Given the description of an element on the screen output the (x, y) to click on. 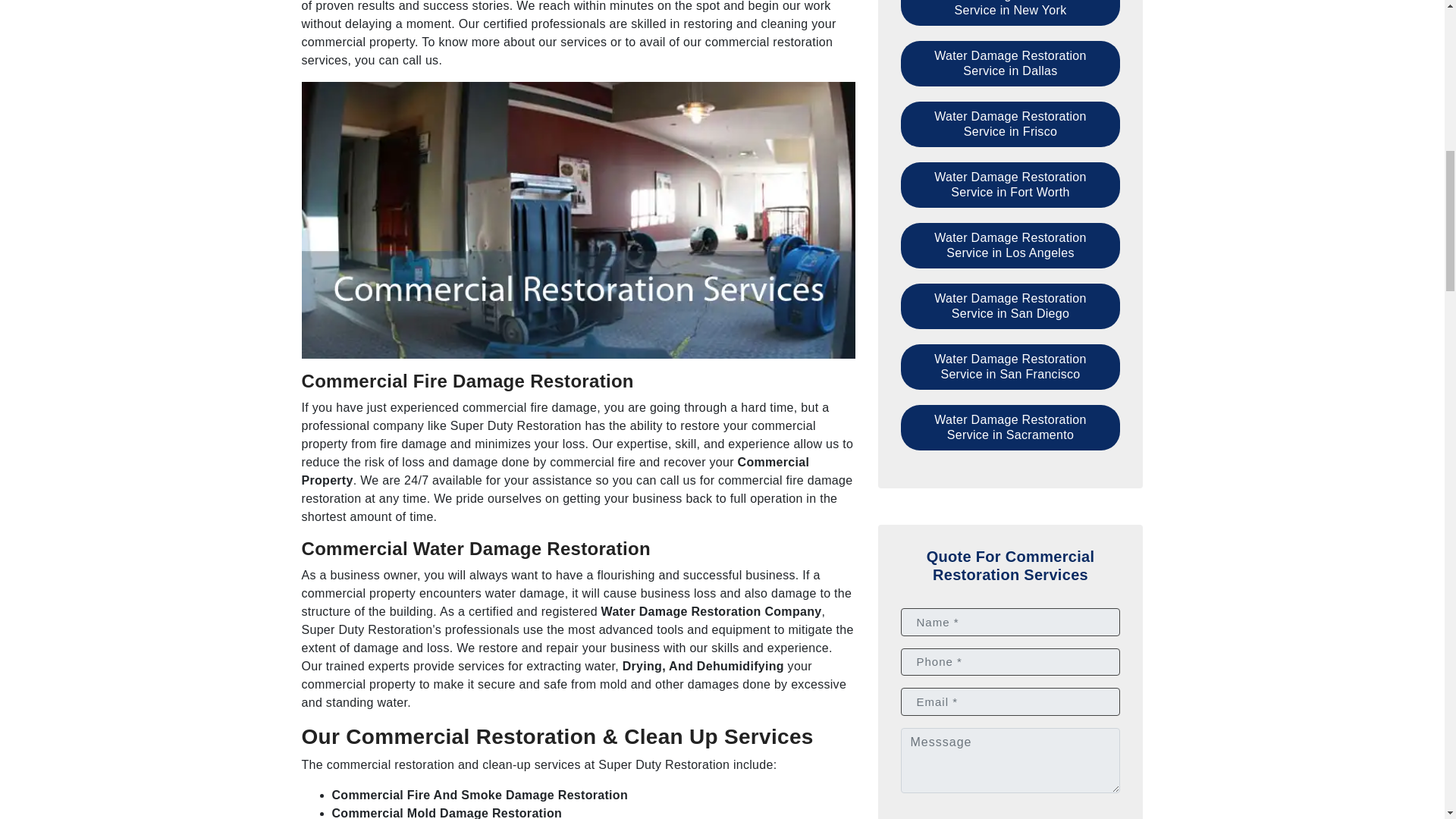
Water Damage Restoration Service in Fort Worth (1011, 185)
Water Damage Restoration Service in Dallas (1011, 63)
Water Damage Restoration Service in San Francisco (1011, 366)
Water Damage Restoration Service in New York (1011, 12)
Water Damage Restoration Service in San Diego (1011, 306)
Water Damage Restoration Service in Los Angeles (1011, 245)
Water Damage Restoration Service in Frisco (1011, 124)
Water Damage Restoration Service in Sacramento (1011, 427)
